Given the description of an element on the screen output the (x, y) to click on. 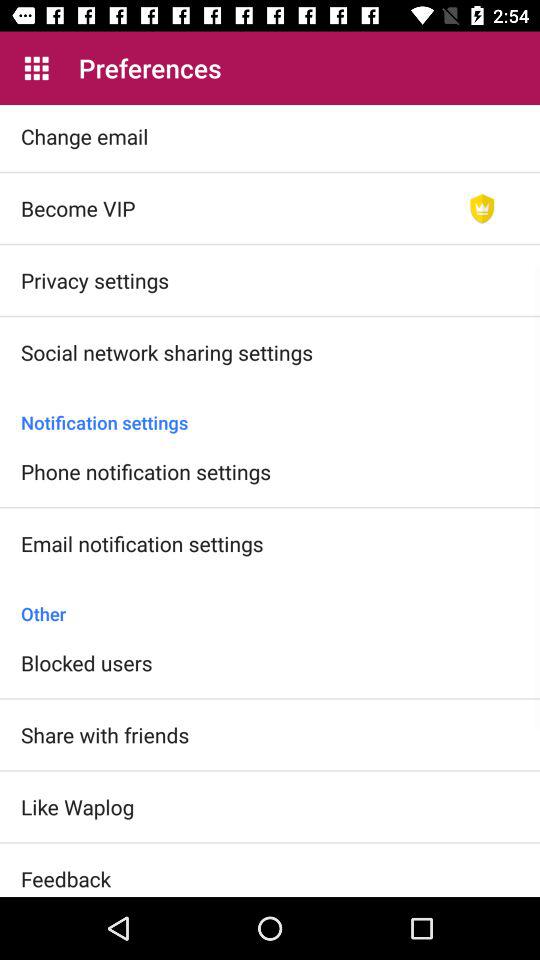
swipe until other icon (270, 603)
